Given the description of an element on the screen output the (x, y) to click on. 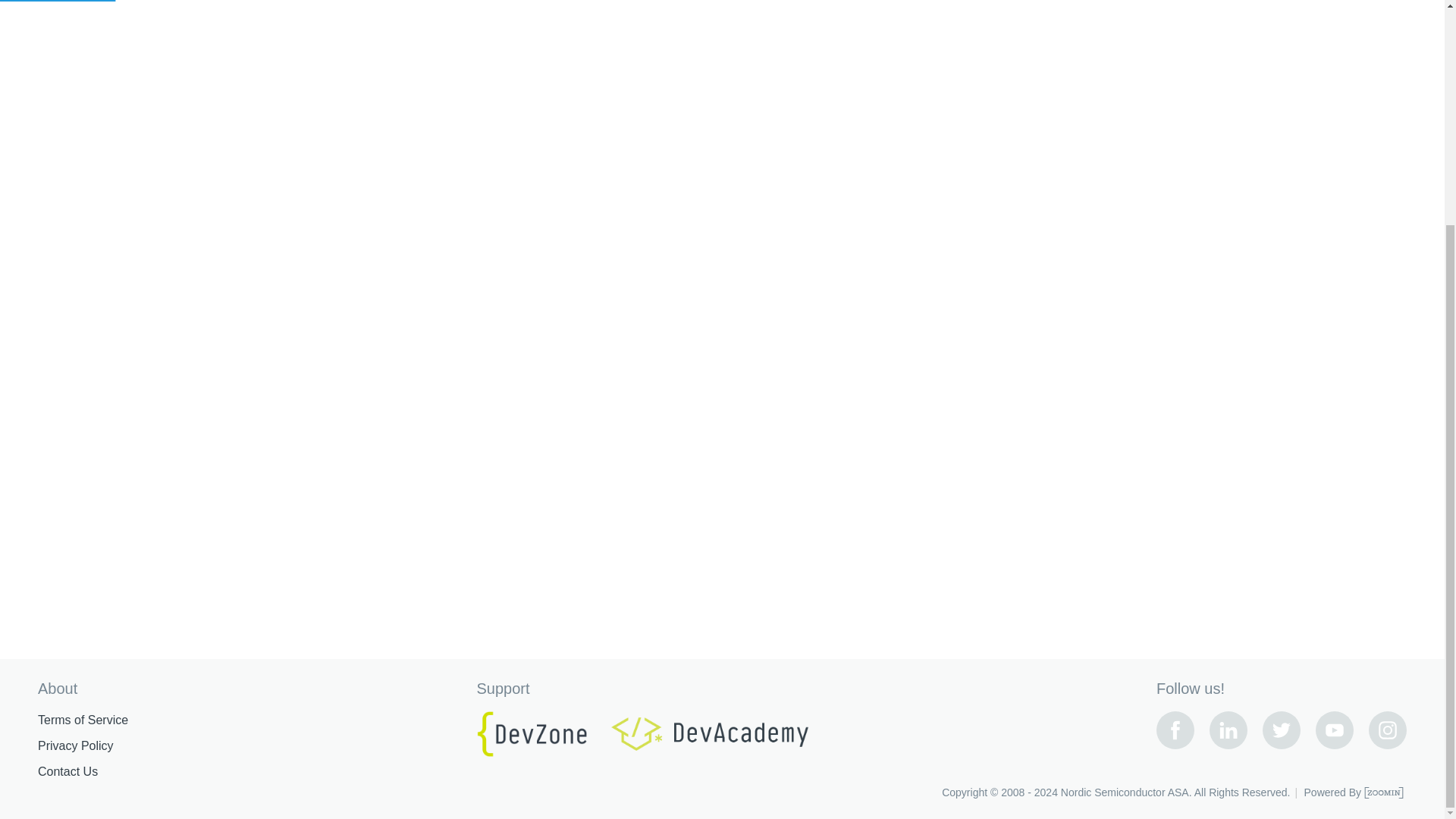
Contact Us (67, 771)
Terms of Service (82, 720)
Privacy Policy (75, 746)
